Given the description of an element on the screen output the (x, y) to click on. 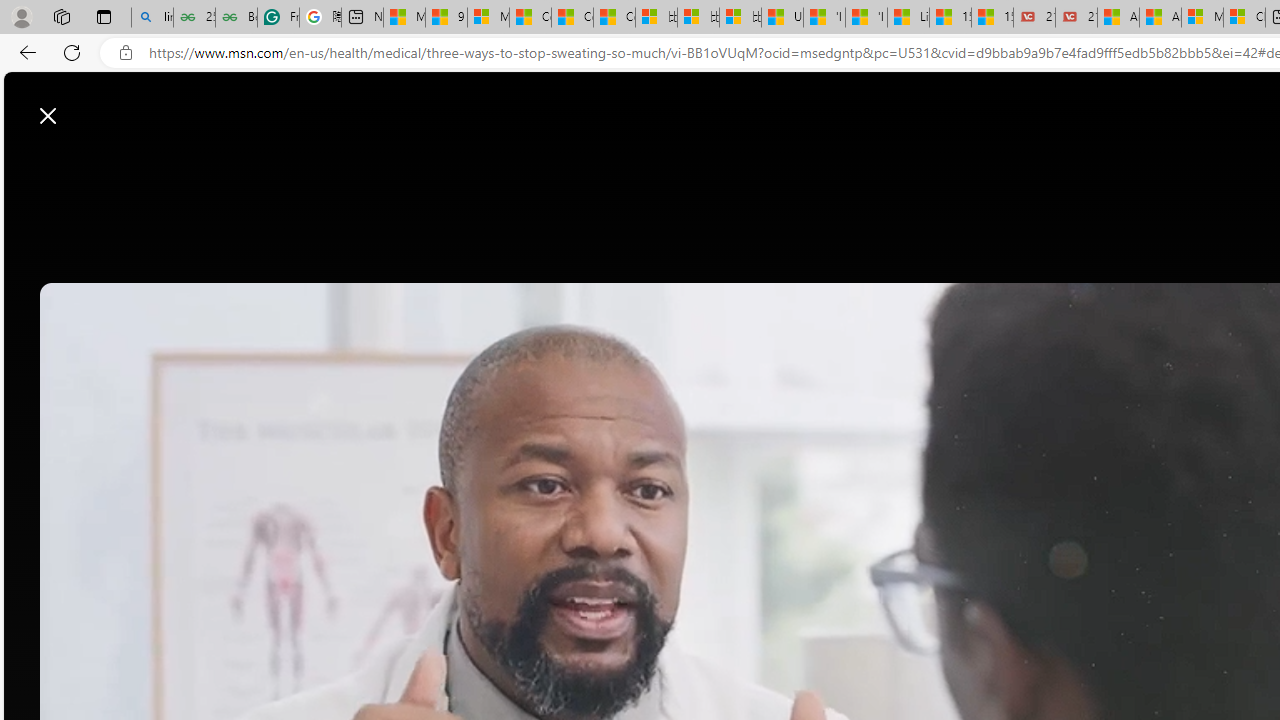
21 Movies That Outdid the Books They Were Based On (1076, 17)
Class: control icon-only (47, 115)
Lifestyle - MSN (908, 17)
15 Ways Modern Life Contradicts the Teachings of Jesus (991, 17)
